Given the description of an element on the screen output the (x, y) to click on. 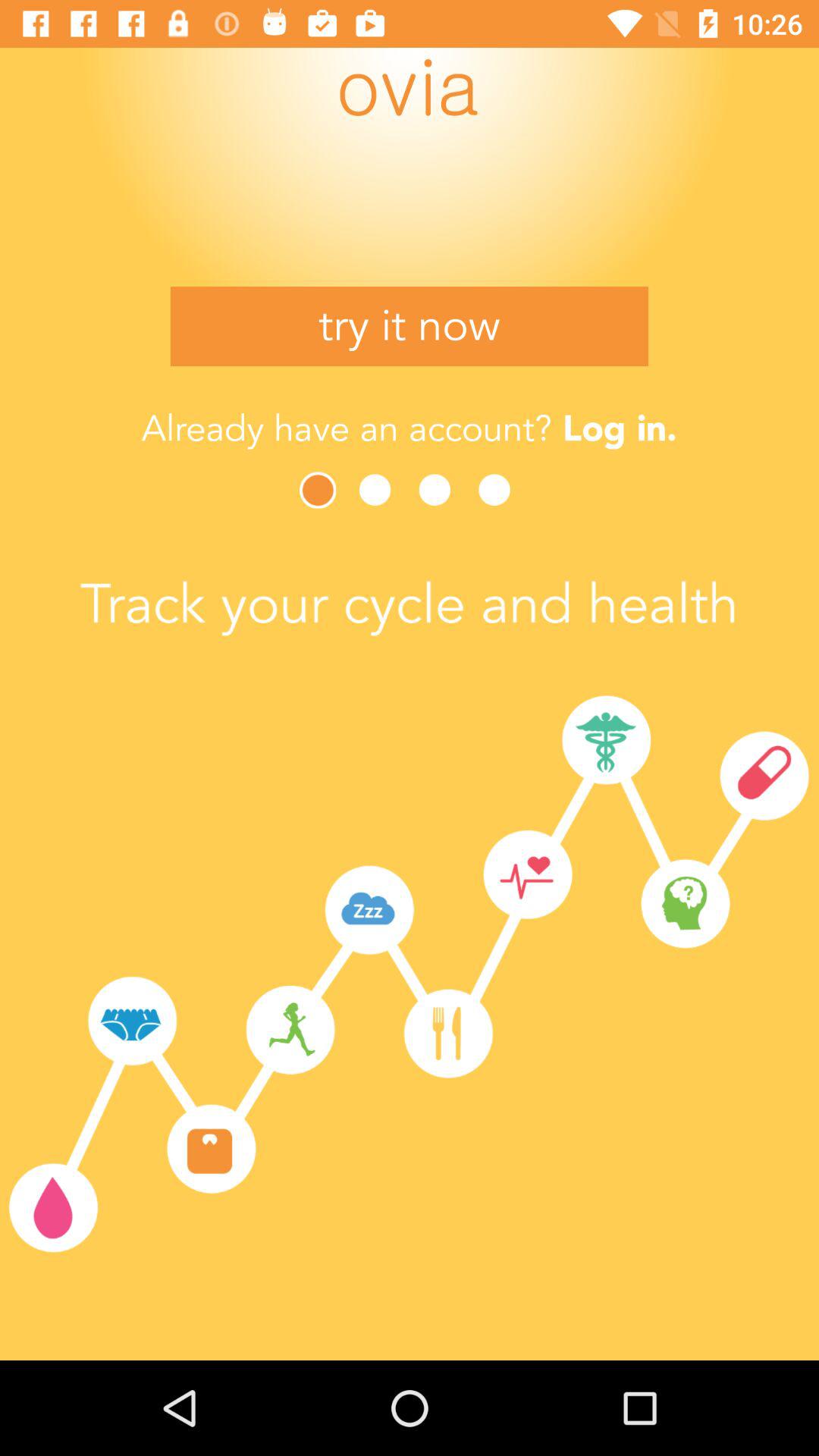
go to step 4 (498, 490)
